Given the description of an element on the screen output the (x, y) to click on. 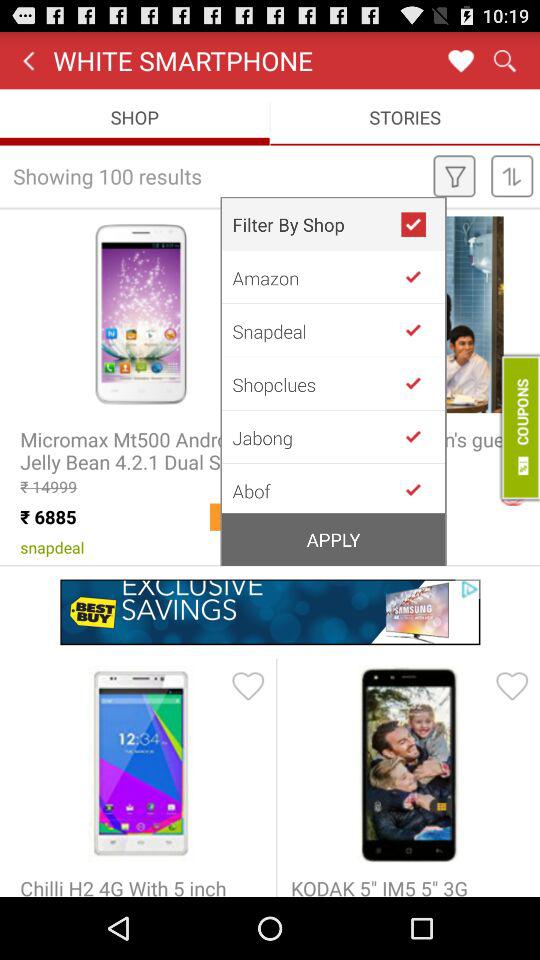
turn on the item to the right of the filter by shop (422, 224)
